Given the description of an element on the screen output the (x, y) to click on. 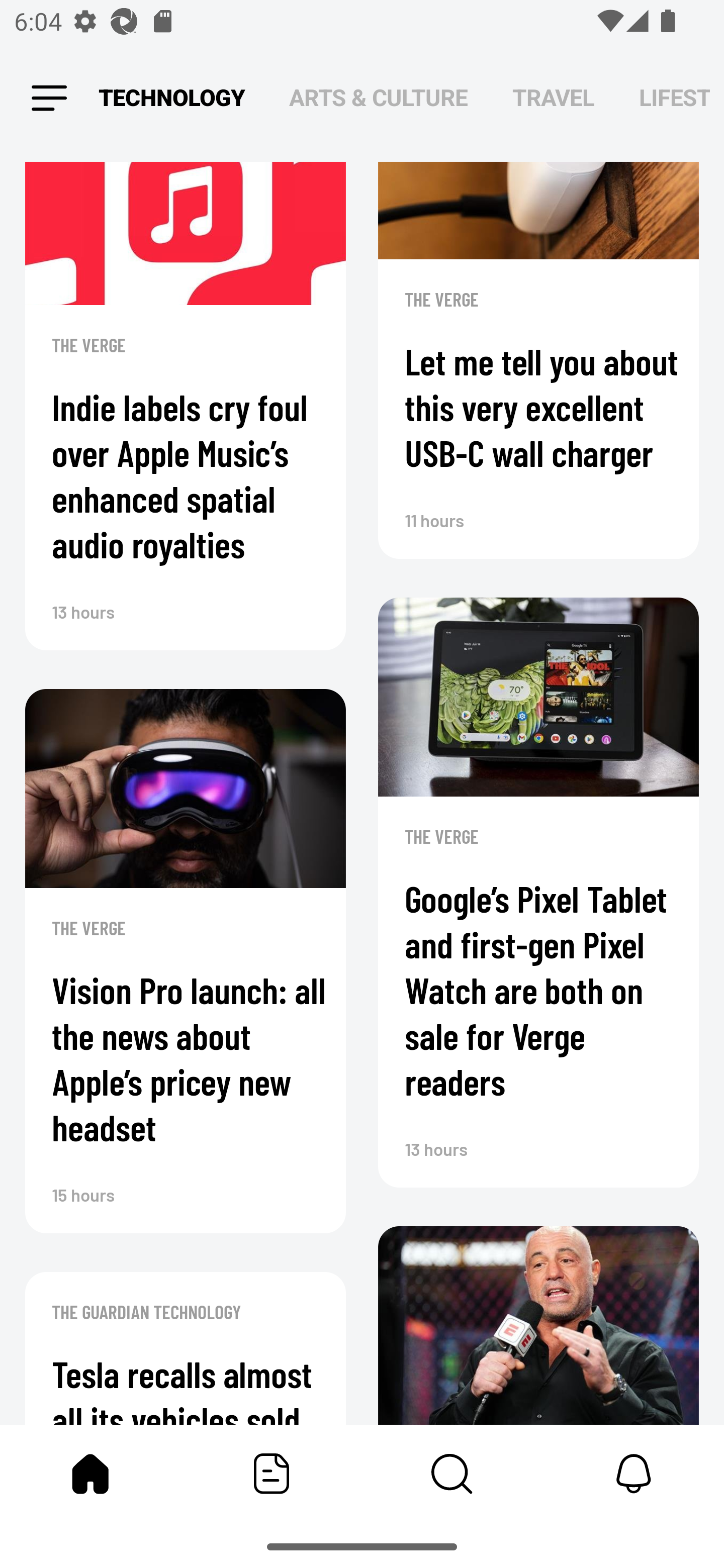
Leading Icon (49, 98)
ARTS & CULTURE (378, 97)
TRAVEL (553, 97)
LIFESTYLE (674, 97)
Featured (271, 1473)
Content Store (452, 1473)
Notifications (633, 1473)
